Given the description of an element on the screen output the (x, y) to click on. 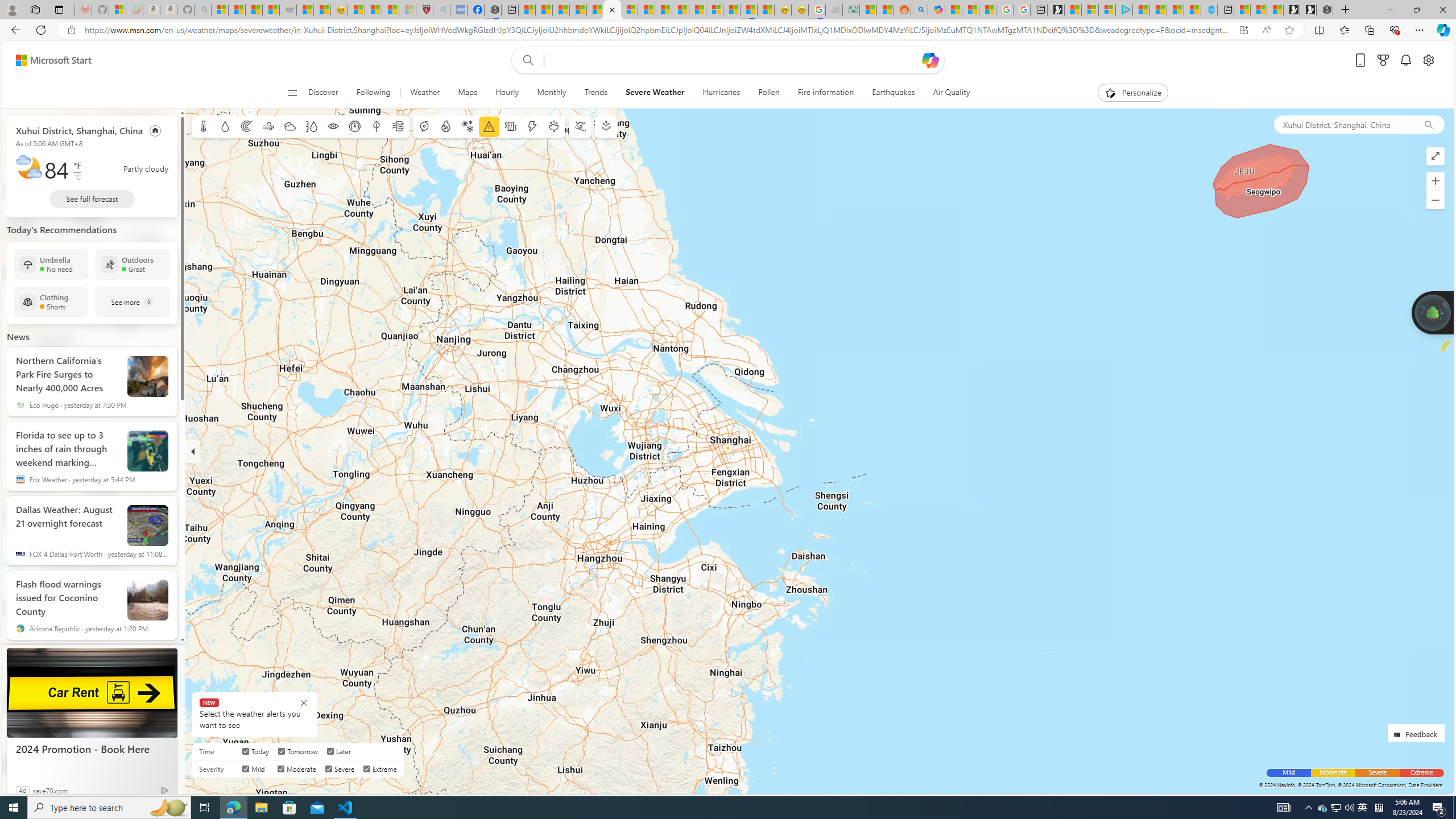
Lightning (532, 126)
Air Quality (946, 92)
Join us in planting real trees to help our planet! (1431, 311)
Xuhui District, Shanghai, China (79, 130)
Dallas Weather: August 21 overnight forecast (67, 521)
